Given the description of an element on the screen output the (x, y) to click on. 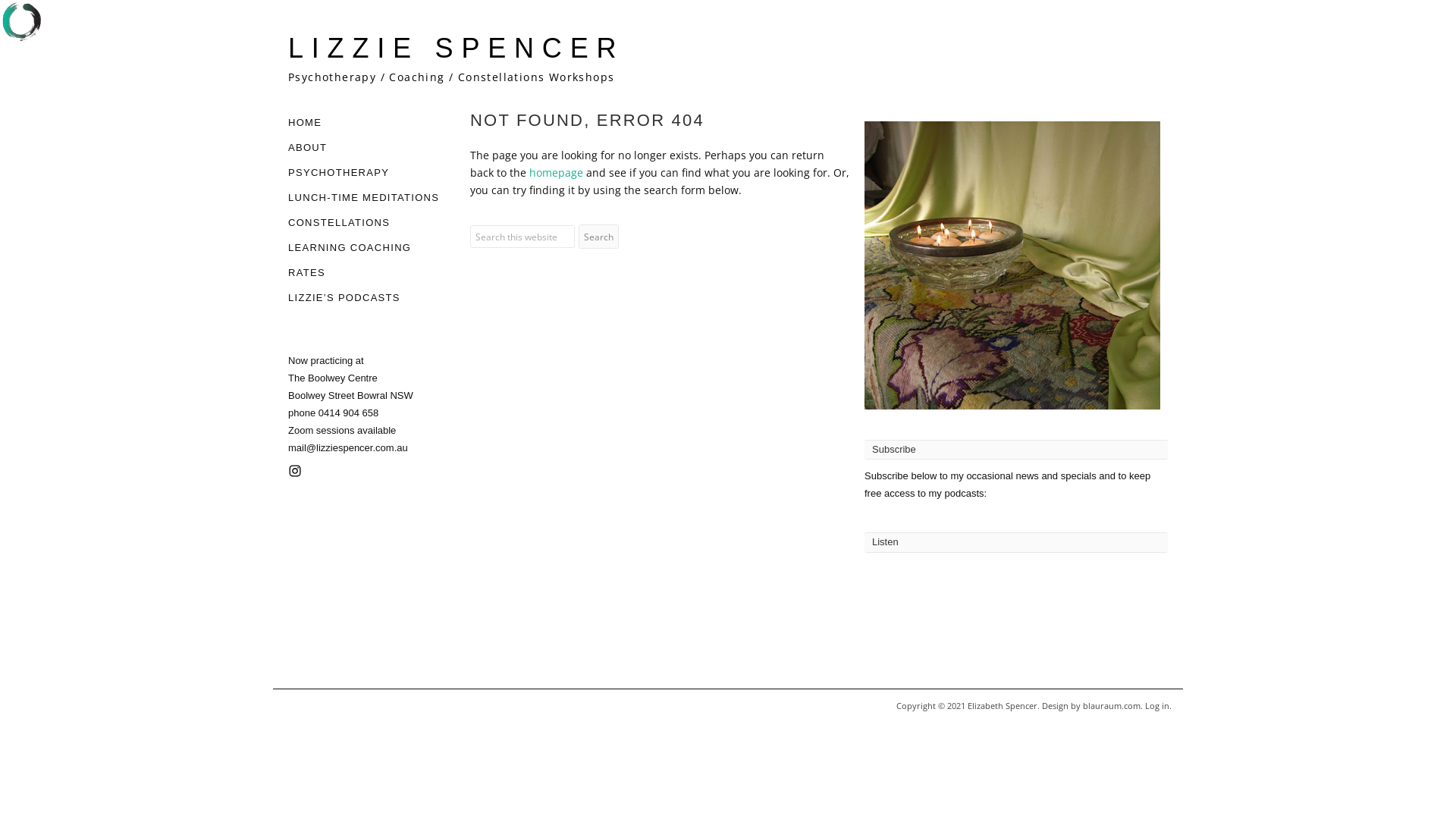
homepage Element type: text (556, 172)
PSYCHOTHERAPY Element type: text (338, 172)
Log in Element type: text (1157, 704)
LUNCH-TIME MEDITATIONS Element type: text (363, 197)
LEARNING COACHING Element type: text (349, 247)
CONSTELLATIONS Element type: text (338, 222)
LIZZIE SPENCER Element type: text (456, 47)
Search Element type: text (598, 236)
RATES Element type: text (306, 272)
ABOUT Element type: text (307, 147)
blauraum.com. Element type: text (1113, 704)
HOME Element type: text (304, 122)
